Given the description of an element on the screen output the (x, y) to click on. 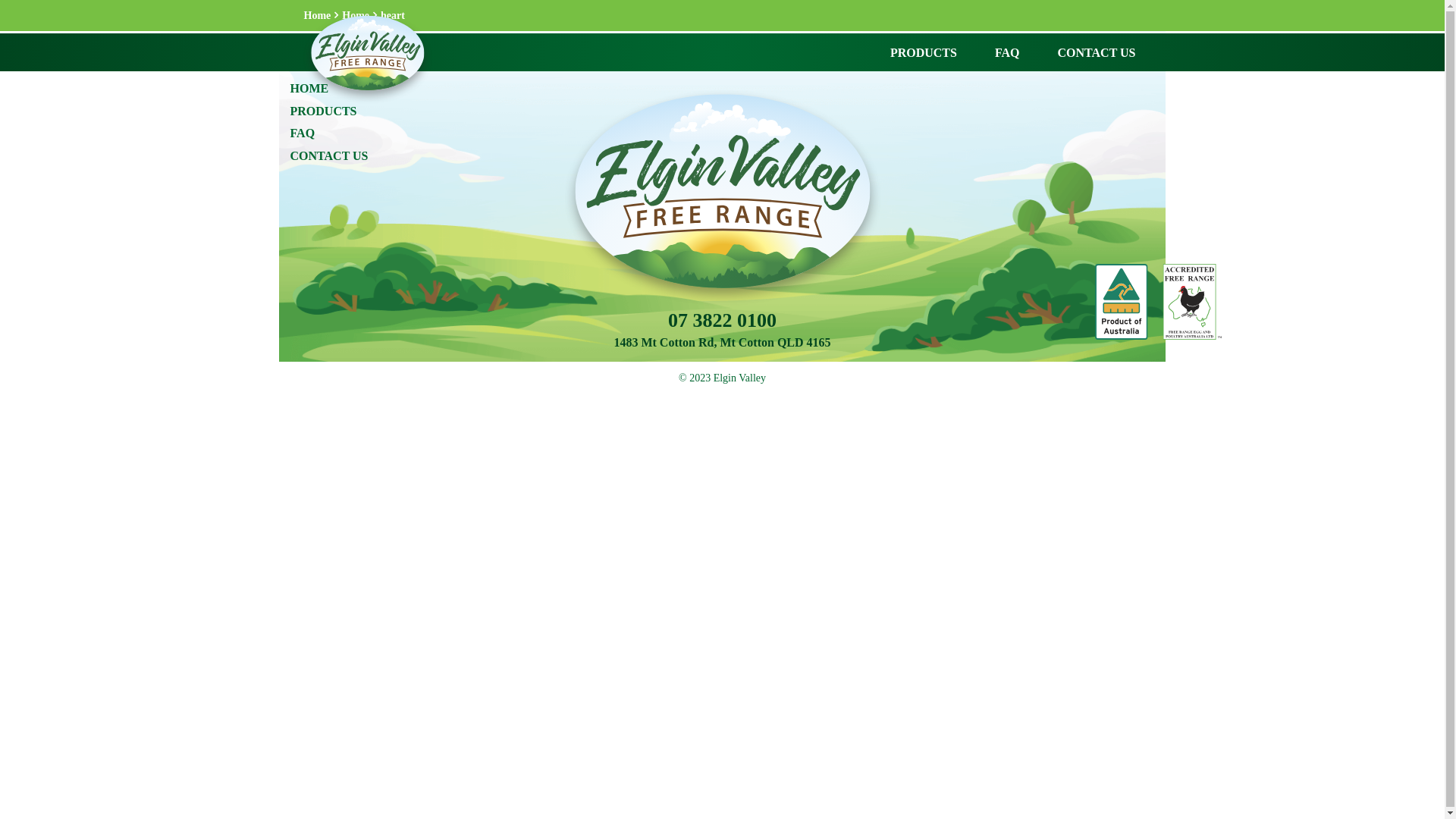
PRODUCTS Element type: text (923, 52)
FAQ Element type: text (301, 132)
07 3822 0100 Element type: text (722, 320)
HOME Element type: text (308, 87)
CONTACT US Element type: text (328, 155)
CONTACT US Element type: text (1096, 52)
Home Element type: text (355, 15)
Home Element type: text (316, 15)
FAQ Element type: text (1006, 52)
PRODUCTS Element type: text (322, 110)
